Given the description of an element on the screen output the (x, y) to click on. 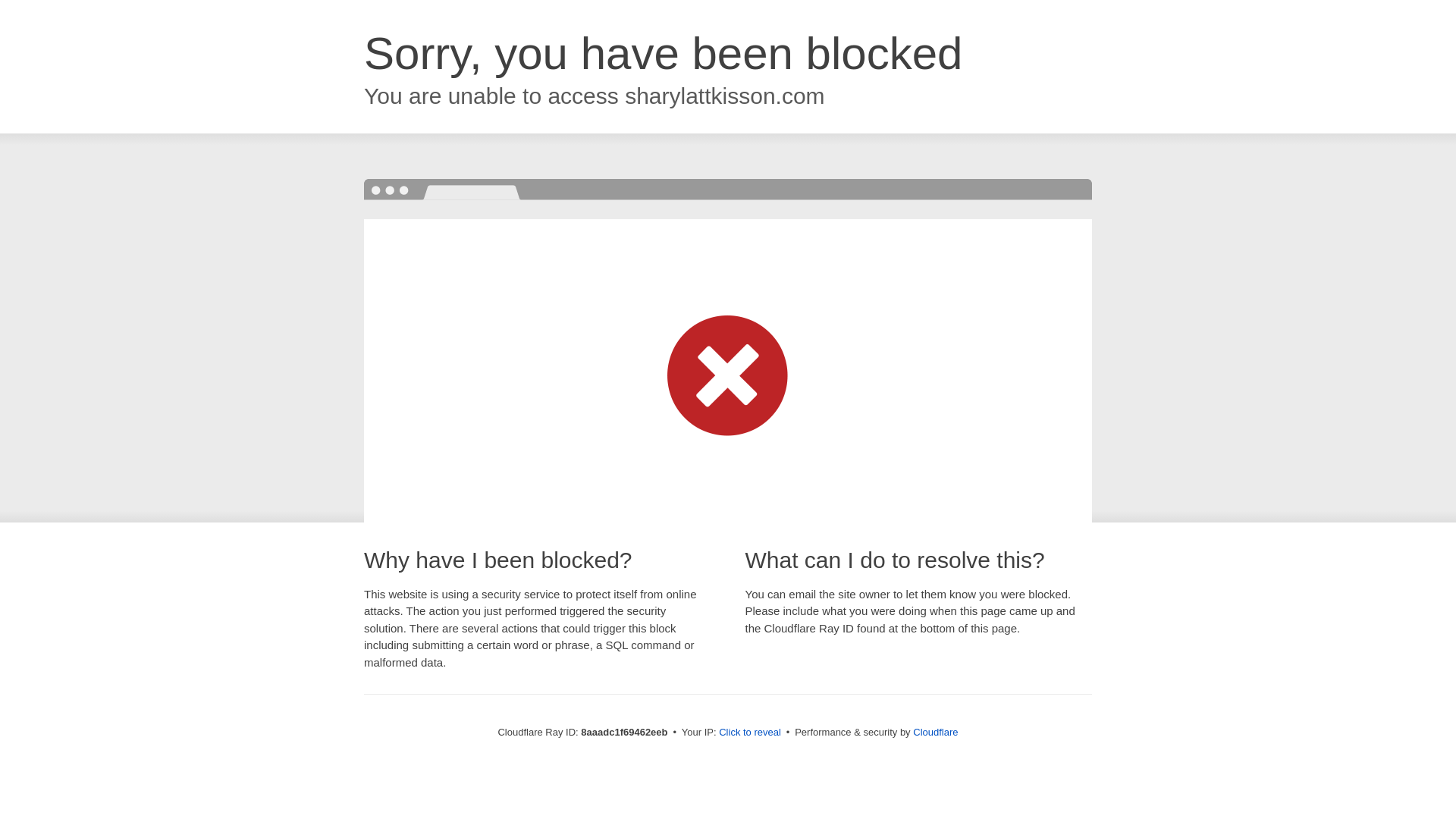
Click to reveal (749, 732)
Cloudflare (935, 731)
